Given the description of an element on the screen output the (x, y) to click on. 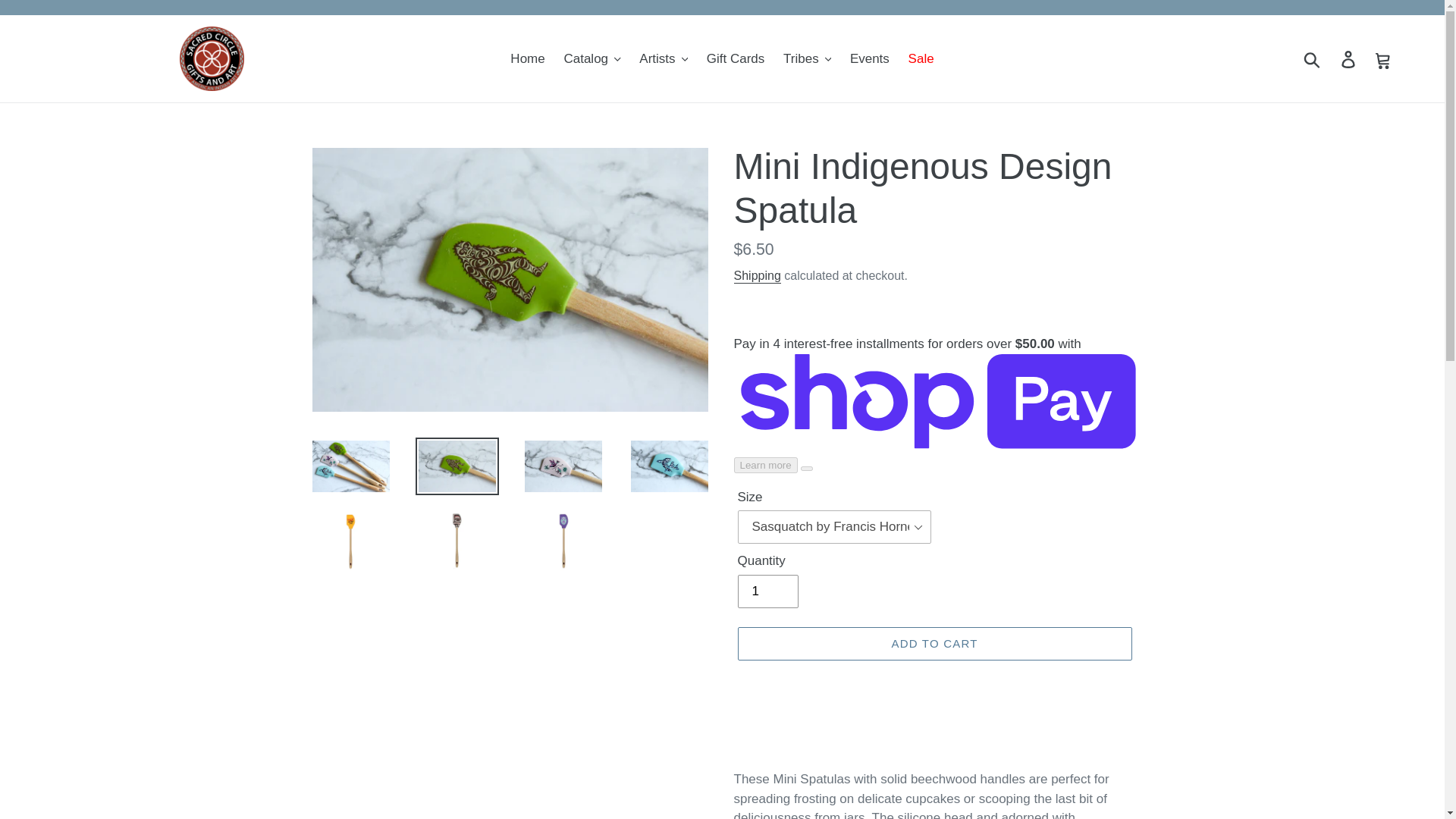
Home (526, 58)
1 (766, 591)
